Given the description of an element on the screen output the (x, y) to click on. 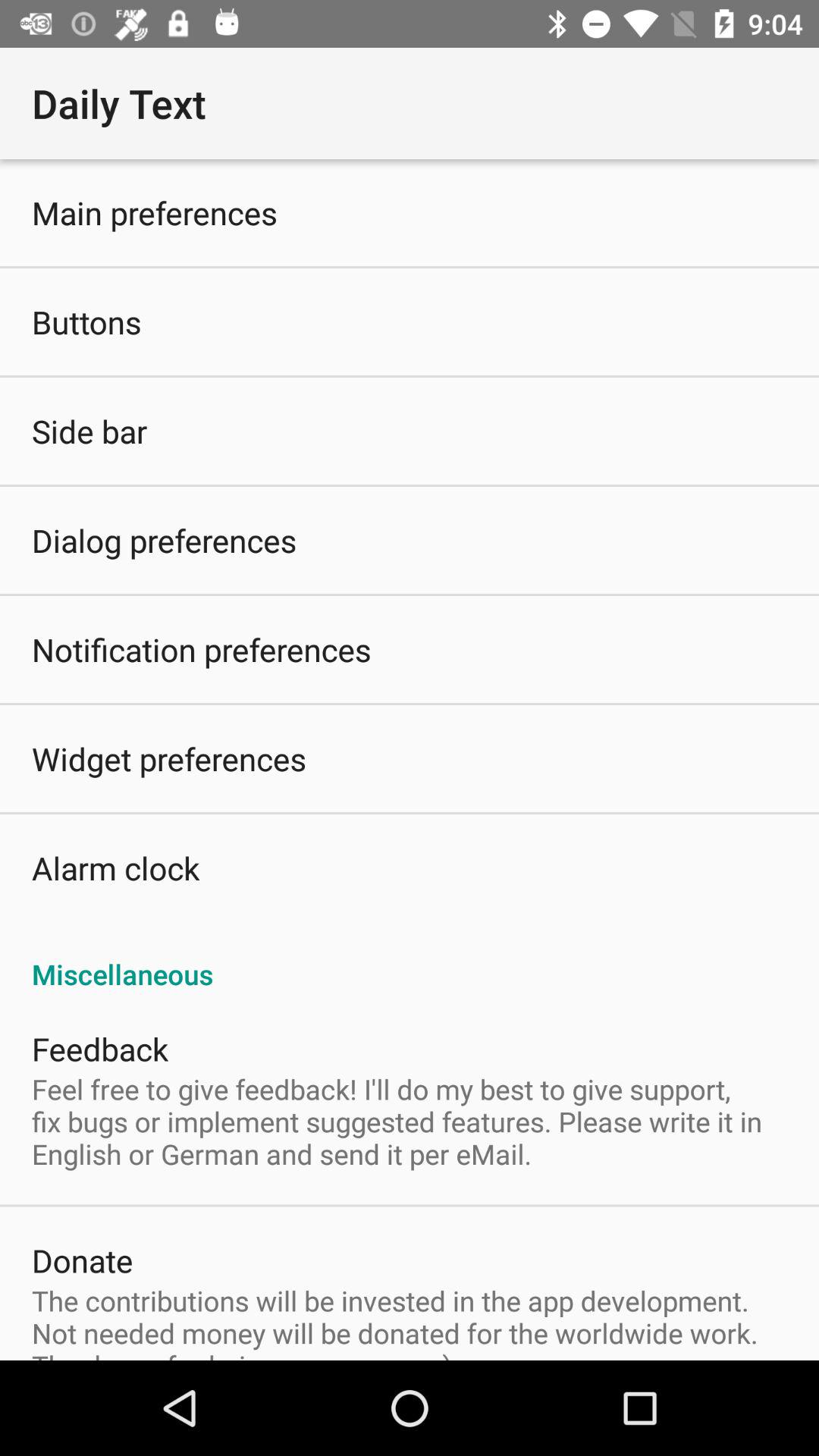
tap the item below dialog preferences icon (201, 649)
